Given the description of an element on the screen output the (x, y) to click on. 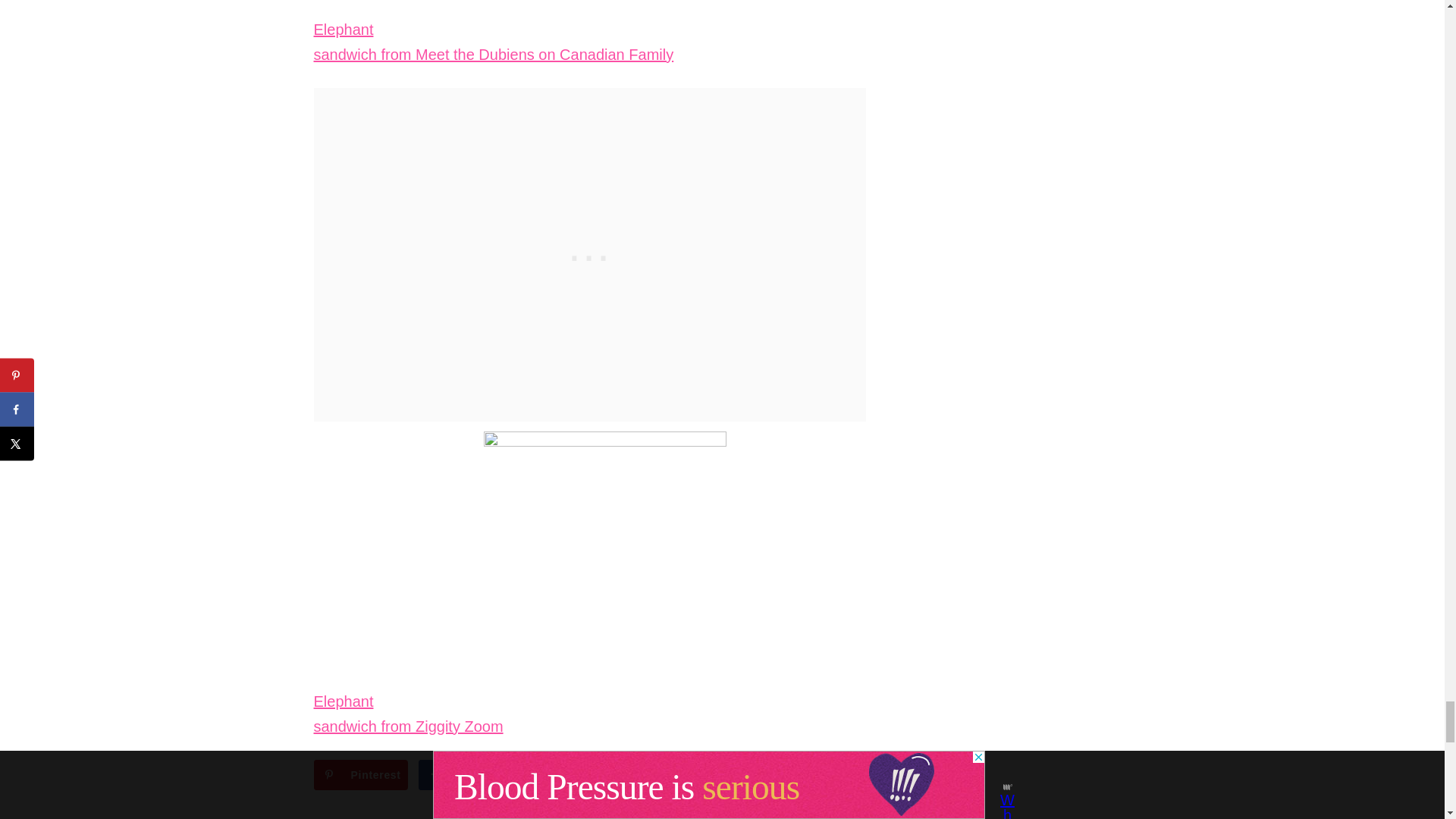
Share on Facebook (465, 775)
Share on X (561, 775)
Save to Pinterest (360, 775)
